Given the description of an element on the screen output the (x, y) to click on. 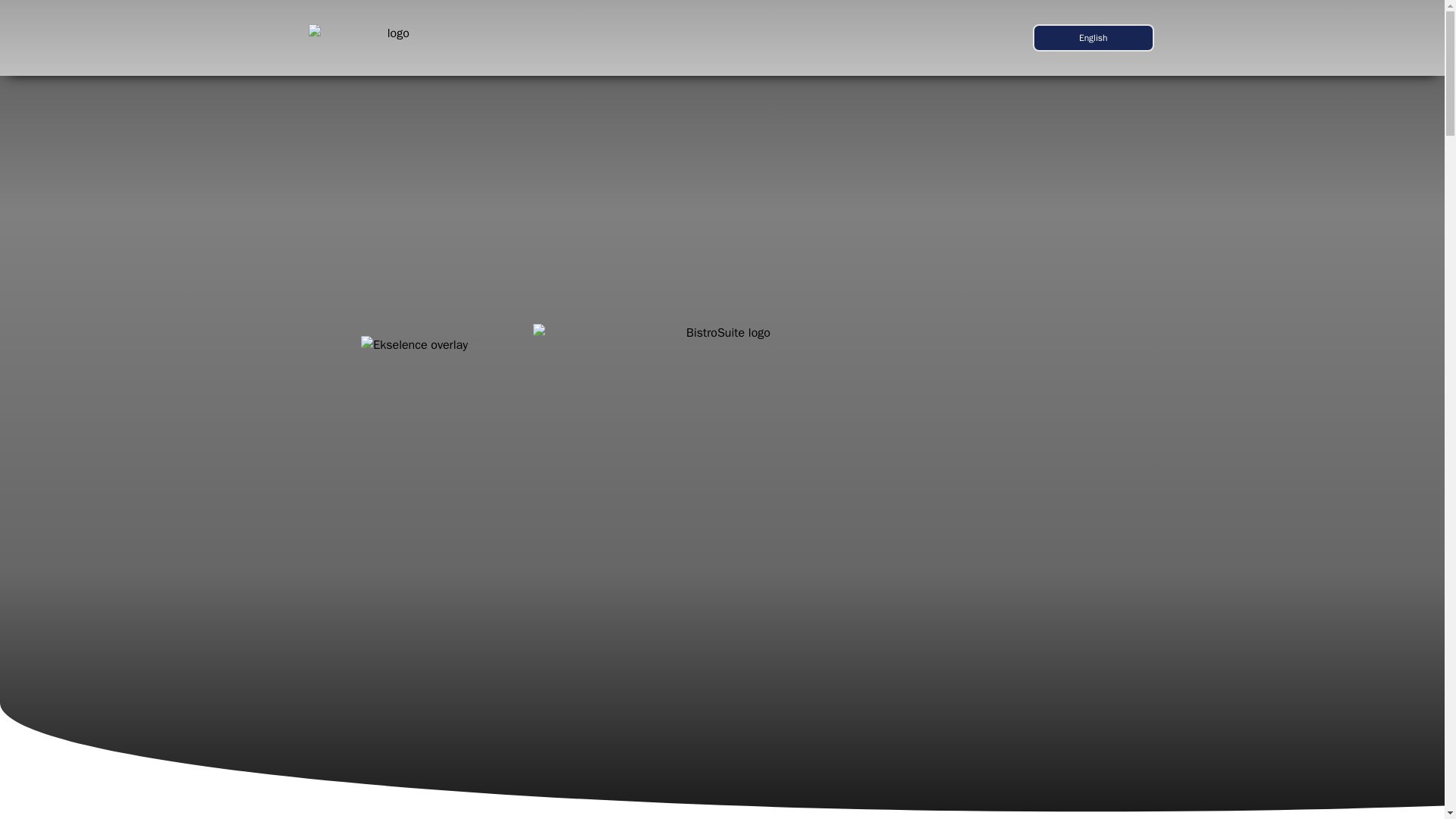
English (1093, 37)
